Given the description of an element on the screen output the (x, y) to click on. 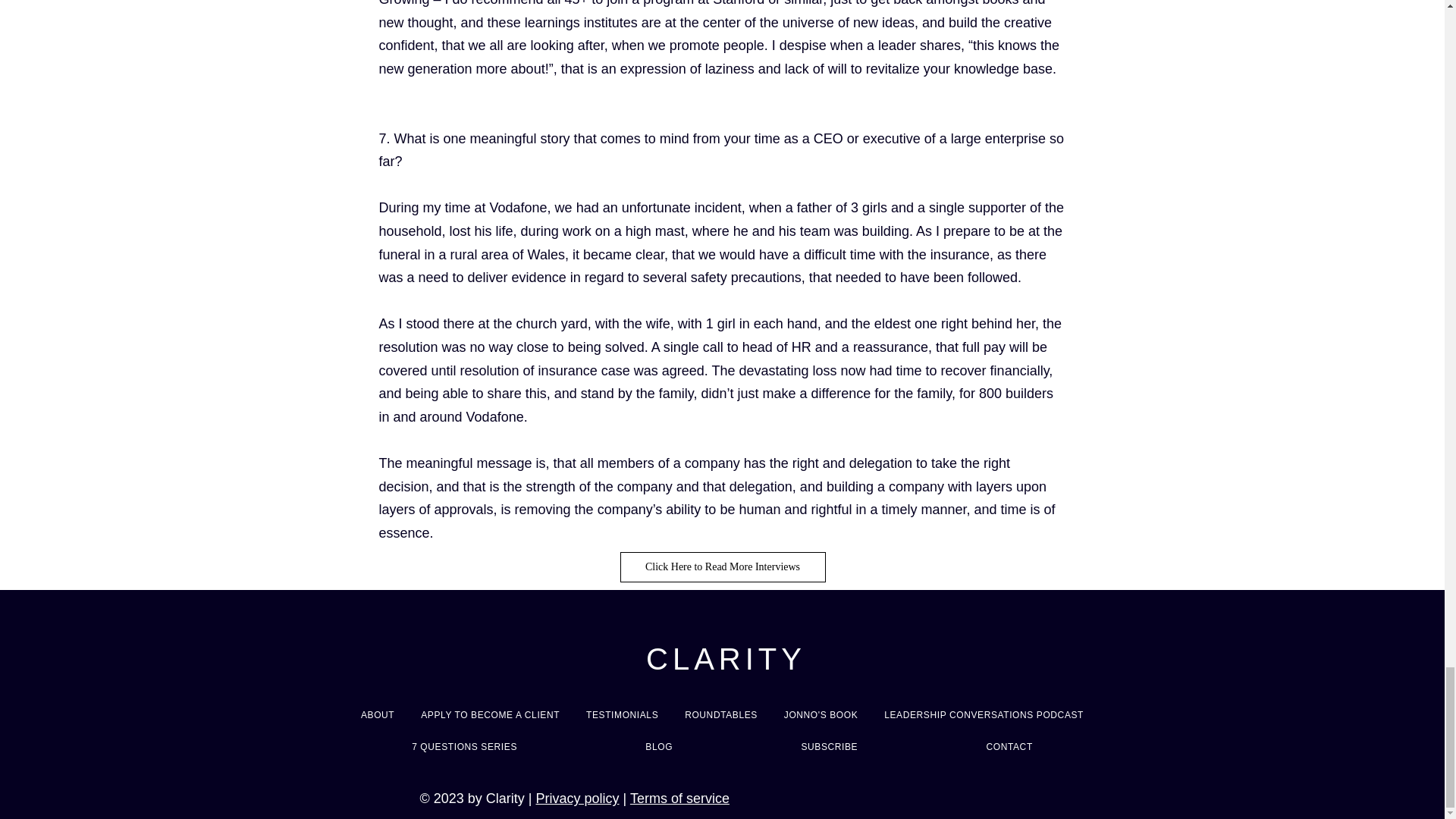
SUBSCRIBE (828, 746)
ABOUT (377, 714)
Privacy policy (576, 798)
BLOG (659, 746)
LEADERSHIP CONVERSATIONS PODCAST (984, 714)
Click Here to Read More Interviews (722, 567)
TESTIMONIALS (622, 714)
CONTACT (1009, 746)
APPLY TO BECOME A CLIENT (490, 714)
CLARITY (726, 658)
JONNO'S BOOK (820, 714)
ROUNDTABLES (721, 714)
Terms of service (679, 798)
7 QUESTIONS SERIES (464, 746)
